Given the description of an element on the screen output the (x, y) to click on. 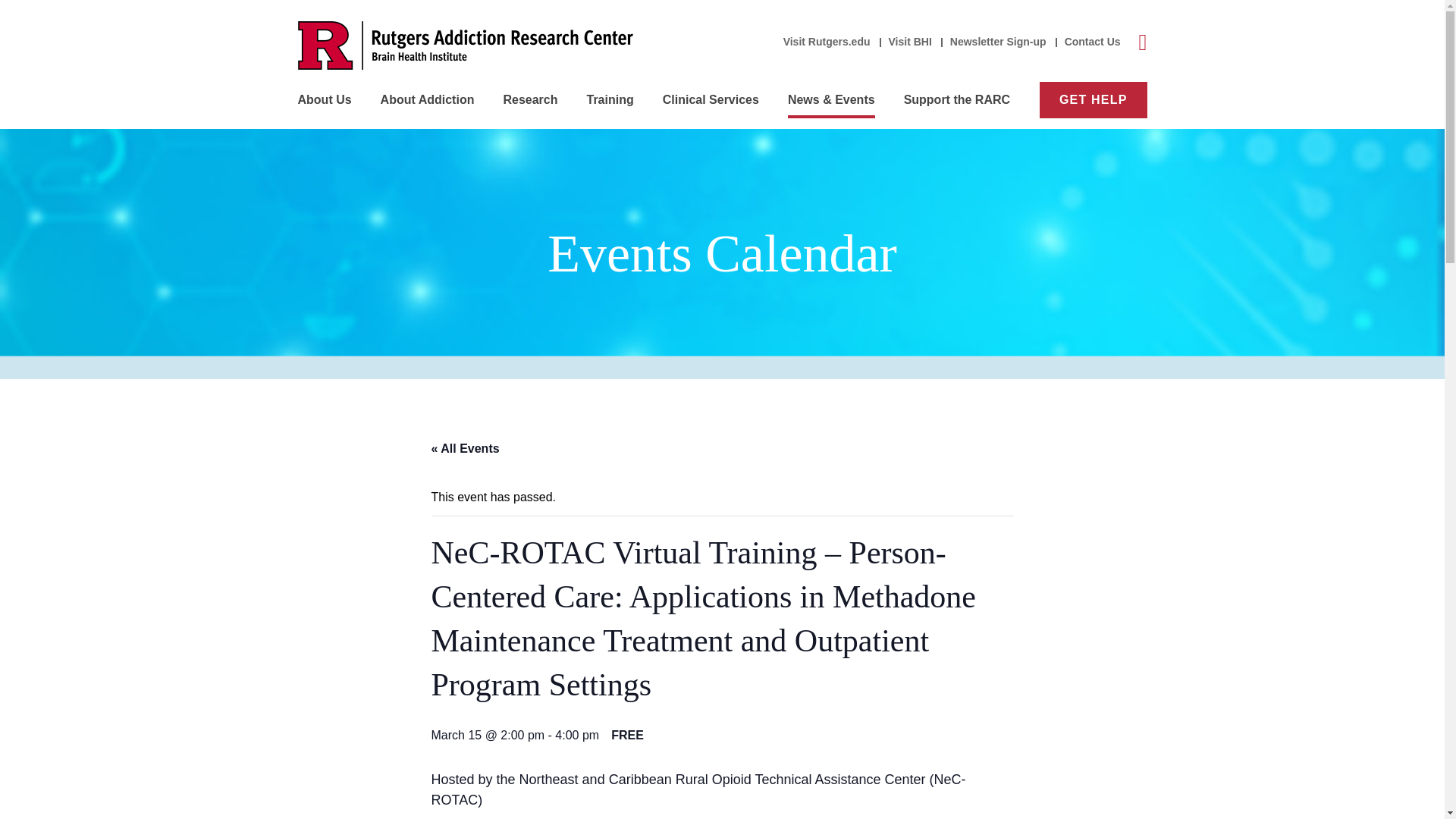
Training (609, 99)
Visit BHI (909, 42)
About Addiction (427, 99)
Contact Us (1092, 42)
Clinical Services (710, 99)
Visit Rutgers.edu (826, 42)
Newsletter Sign-up (997, 42)
Research (529, 99)
About Us (323, 99)
